Given the description of an element on the screen output the (x, y) to click on. 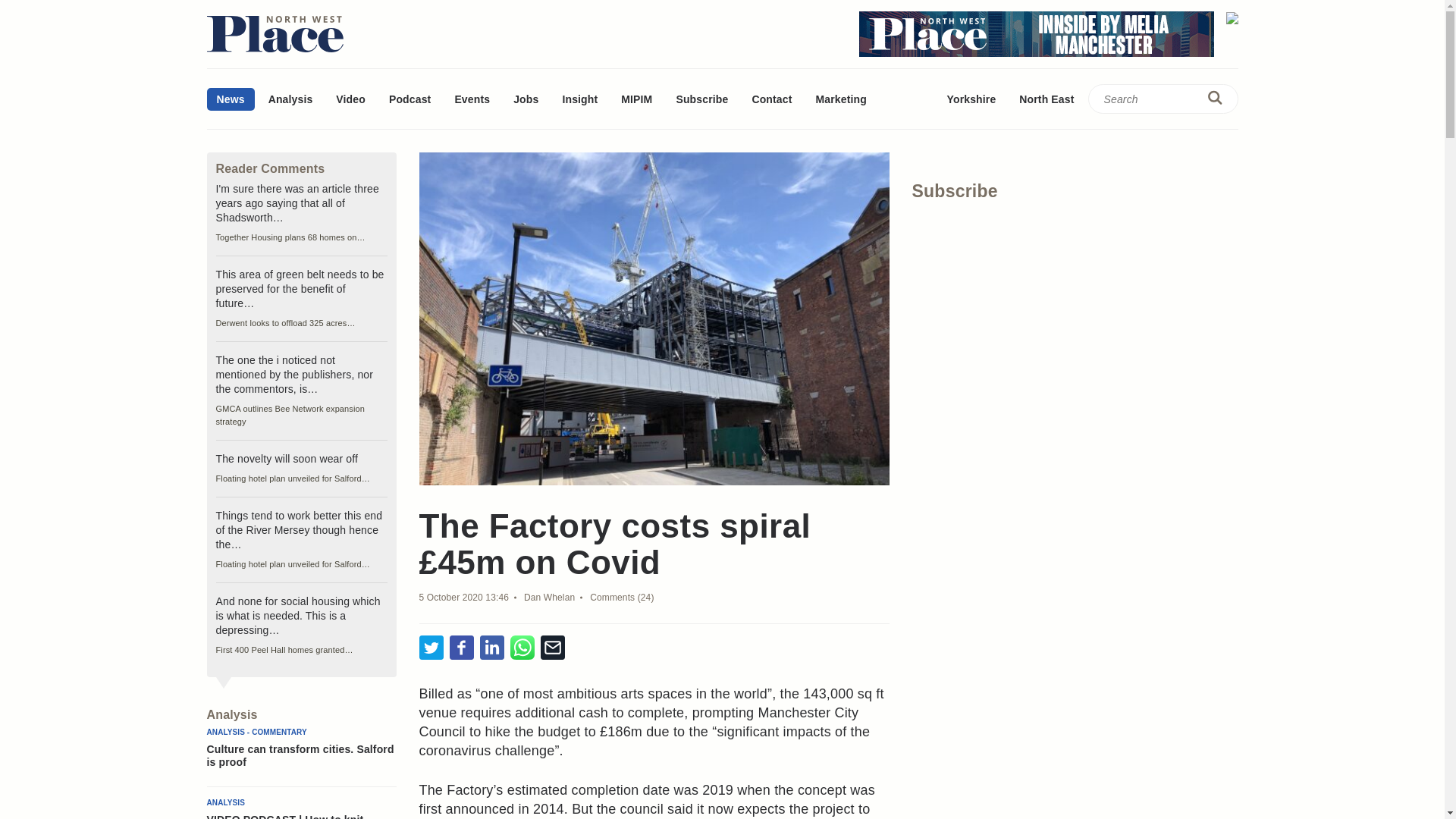
Video (350, 98)
Share on WhatsApp (521, 648)
Share on Facebook (460, 648)
Yorkshire (971, 98)
Marketing (840, 98)
Share by Email (552, 648)
Insight (579, 98)
News (229, 98)
Jobs (525, 98)
Events (471, 98)
Share on Twiiter (430, 648)
Share on LinkedIn (491, 648)
MIPIM (636, 98)
Podcast (409, 98)
